Given the description of an element on the screen output the (x, y) to click on. 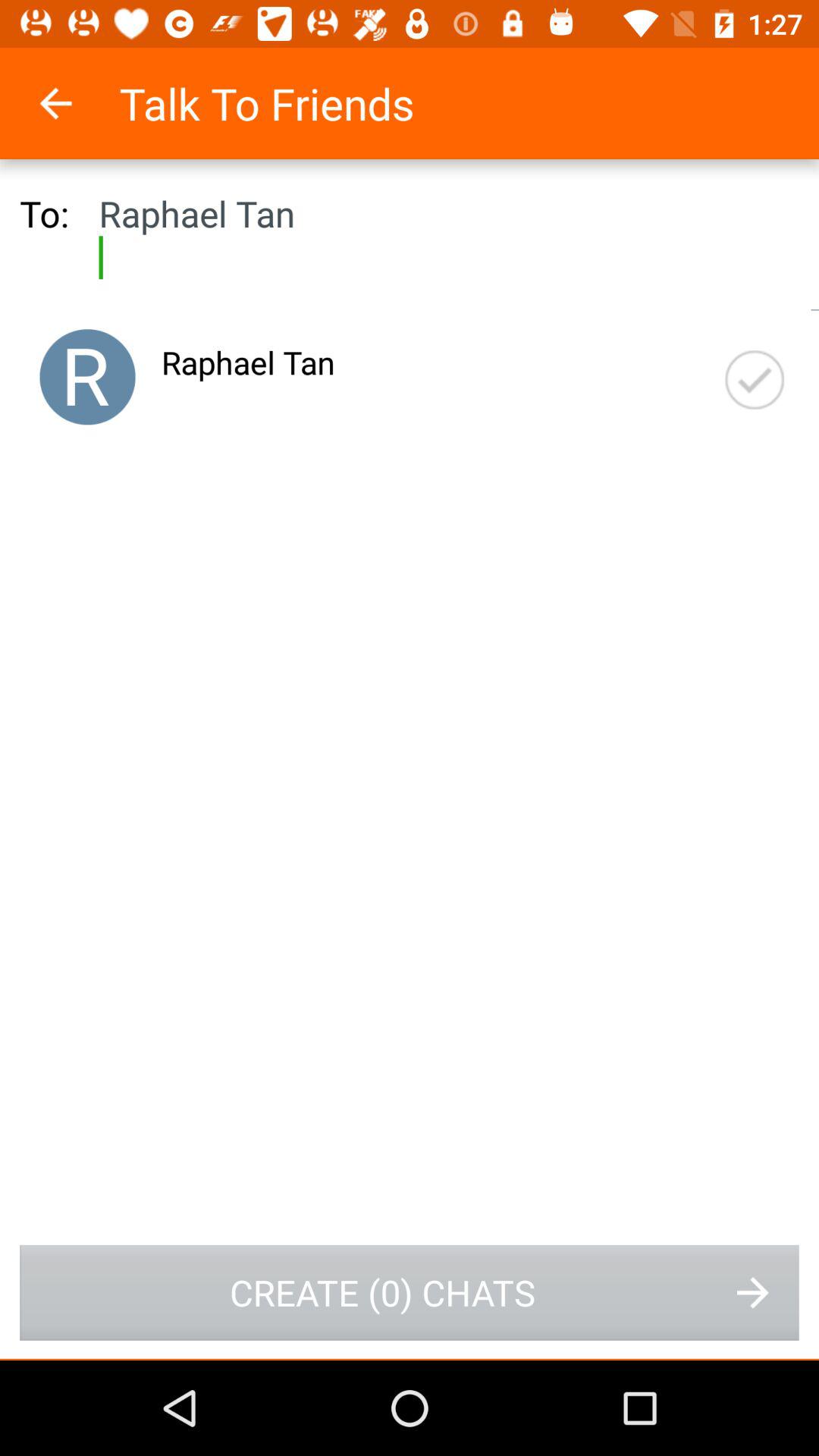
turn on icon to the left of the talk to friends (75, 103)
